Given the description of an element on the screen output the (x, y) to click on. 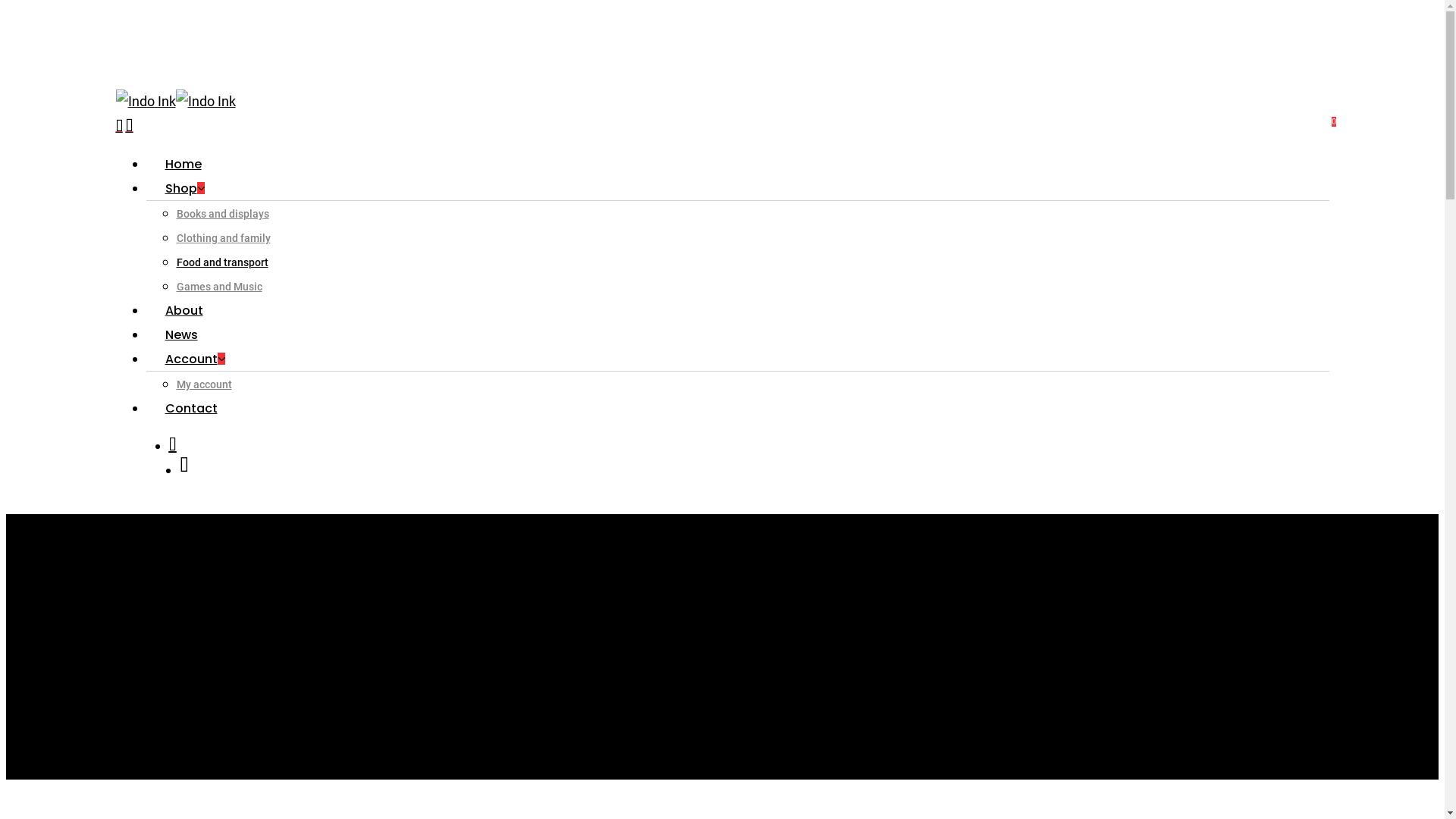
About Element type: text (183, 310)
Clothing and family Element type: text (222, 238)
Shop Element type: text (187, 188)
Food and transport Element type: text (221, 262)
Contact Element type: text (190, 408)
Books and displays Element type: text (221, 213)
Home Element type: text (182, 163)
0 Element type: text (129, 125)
Games and Music Element type: text (218, 286)
Account Element type: text (198, 358)
News Element type: text (180, 334)
My account Element type: text (203, 384)
